Given the description of an element on the screen output the (x, y) to click on. 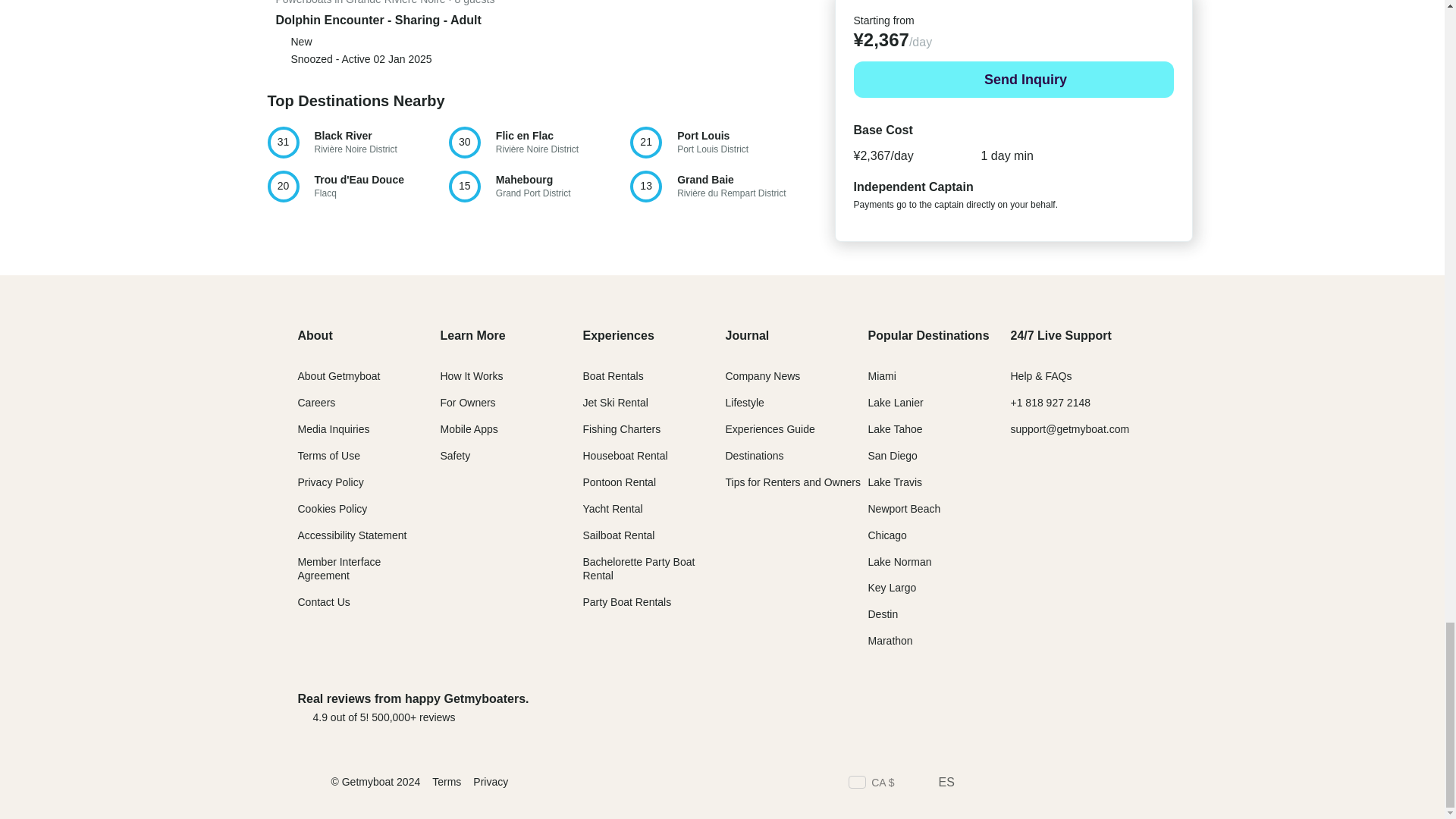
Download on the App Store (977, 707)
Get it on Google Play (719, 142)
Pinterest (356, 186)
Facebook (1096, 707)
TikTok (1111, 784)
YouTube (975, 784)
Twitter (538, 186)
LinkedIn (1084, 784)
Instagram (1139, 784)
